Given the description of an element on the screen output the (x, y) to click on. 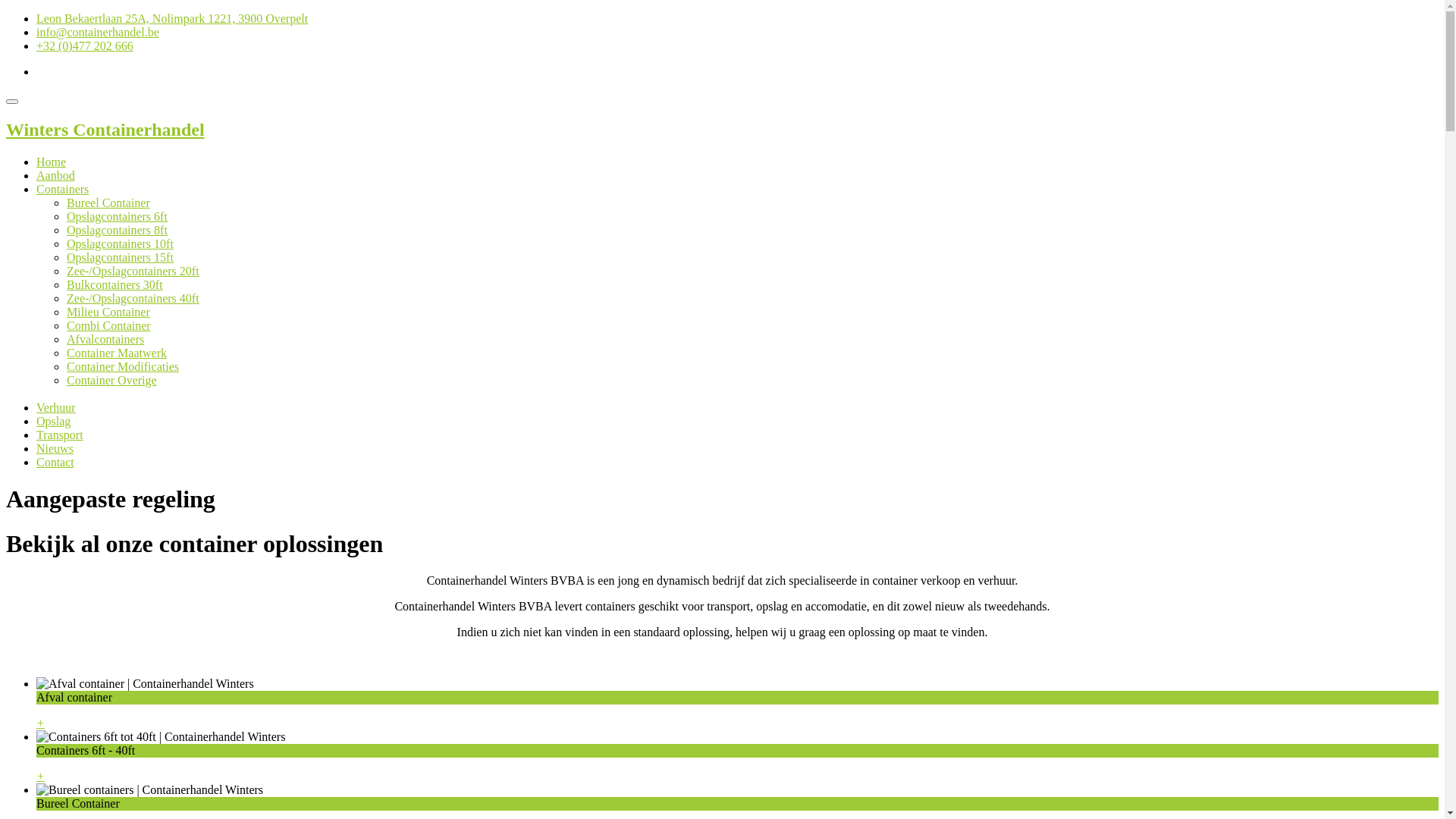
Milieu Container Element type: text (108, 311)
Winters Containerhandel Element type: text (722, 144)
Combi Container Element type: text (108, 325)
Zee-/Opslagcontainers 40ft Element type: text (132, 297)
Leon Bekaertlaan 25A, Nolimpark 1221, 3900 Overpelt Element type: text (171, 18)
Container Maatwerk Element type: text (116, 352)
Bureel Container Element type: text (108, 202)
Opslagcontainers 15ft Element type: text (119, 257)
Containers Element type: text (62, 188)
Transport Element type: text (59, 434)
Afvalcontainers Element type: text (105, 338)
Container Modificaties Element type: text (122, 366)
Verhuur Element type: text (55, 407)
Nieuws Element type: text (54, 448)
Zee-/Opslagcontainers 20ft Element type: text (132, 270)
info@containerhandel.be Element type: text (97, 31)
Contact Element type: text (55, 461)
+ Element type: text (40, 722)
Container Overige Element type: text (111, 379)
+ Element type: text (40, 775)
Opslag Element type: text (53, 420)
Opslagcontainers 10ft Element type: text (119, 243)
Opslagcontainers 8ft Element type: text (116, 229)
Opslagcontainers 6ft Element type: text (116, 216)
Aanbod Element type: text (55, 175)
Bulkcontainers 30ft Element type: text (114, 284)
+32 (0)477 202 666 Element type: text (84, 45)
Home Element type: text (50, 161)
